Given the description of an element on the screen output the (x, y) to click on. 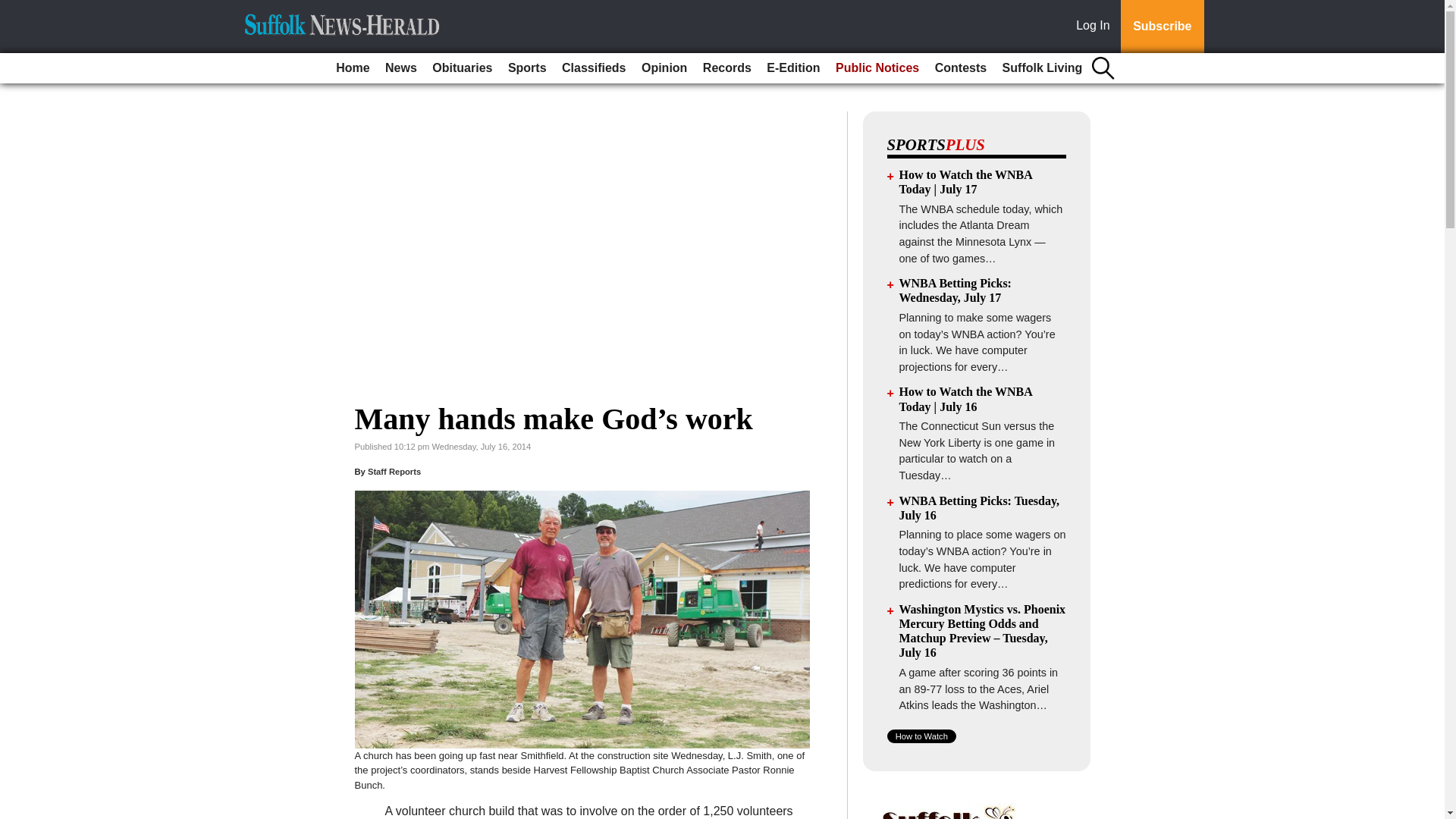
Sports (527, 68)
News (400, 68)
Opinion (663, 68)
Records (727, 68)
Home (352, 68)
How to Watch (921, 735)
Subscribe (1162, 26)
Classifieds (593, 68)
Obituaries (461, 68)
E-Edition (792, 68)
Staff Reports (394, 470)
Suffolk Living (1042, 68)
WNBA Betting Picks: Tuesday, July 16 (979, 507)
Contests (960, 68)
WNBA Betting Picks: Wednesday, July 17 (955, 289)
